Given the description of an element on the screen output the (x, y) to click on. 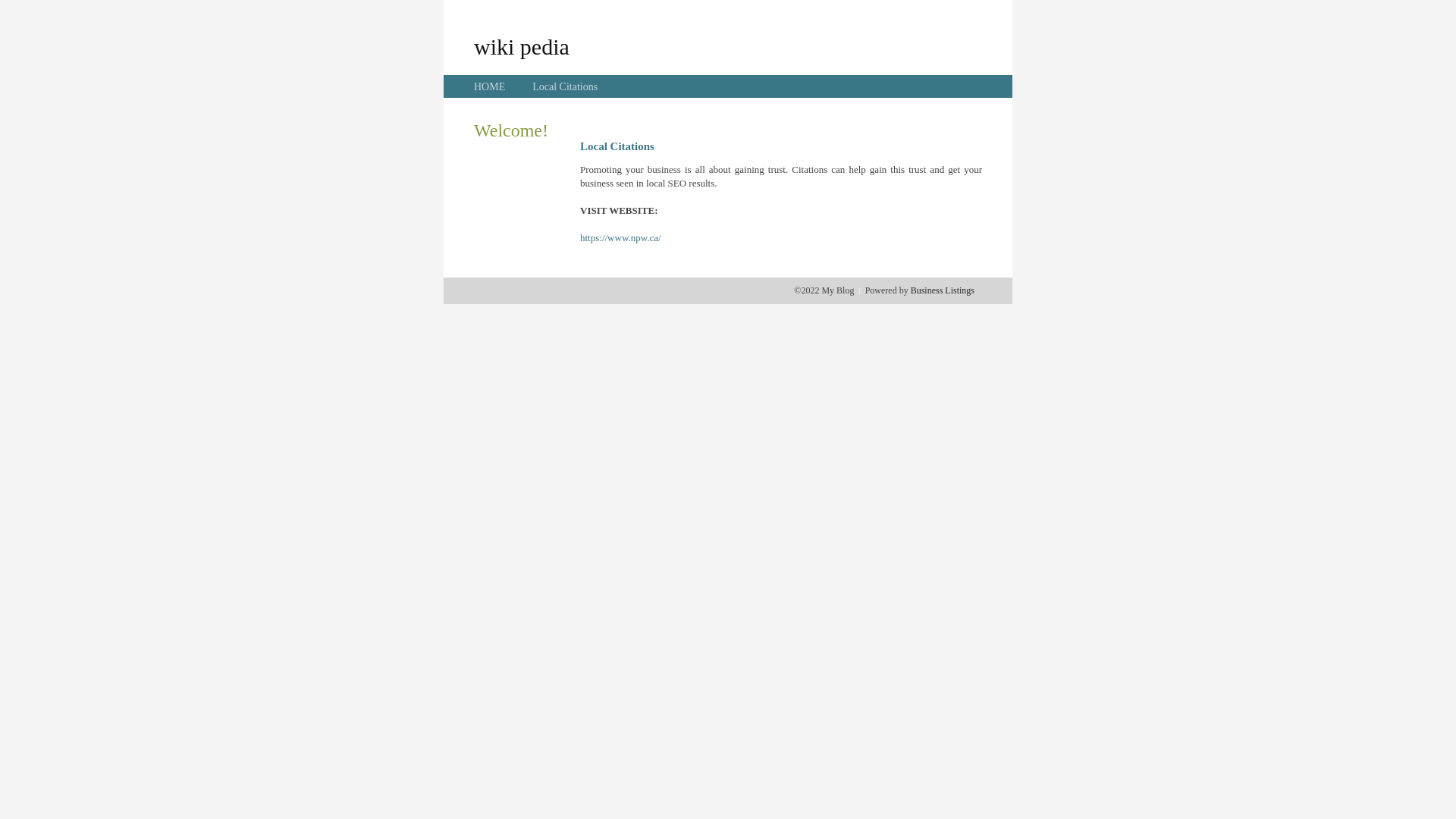
HOME Element type: text (489, 86)
https://www.npw.ca/ Element type: text (620, 237)
wiki pedia Element type: text (521, 46)
Local Citations Element type: text (564, 86)
Business Listings Element type: text (942, 290)
